Given the description of an element on the screen output the (x, y) to click on. 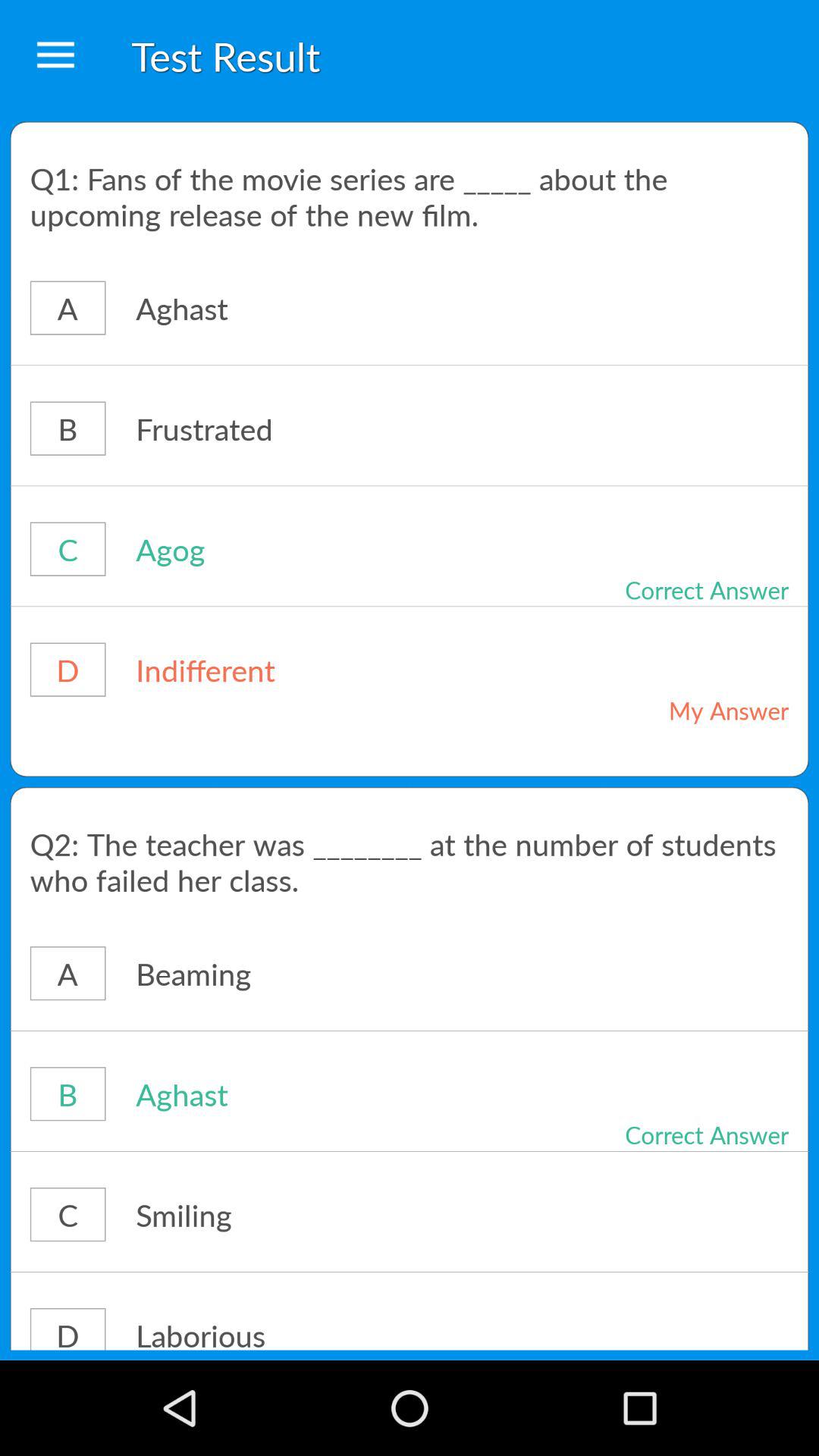
click the icon to the right of the indifferent icon (674, 709)
